Given the description of an element on the screen output the (x, y) to click on. 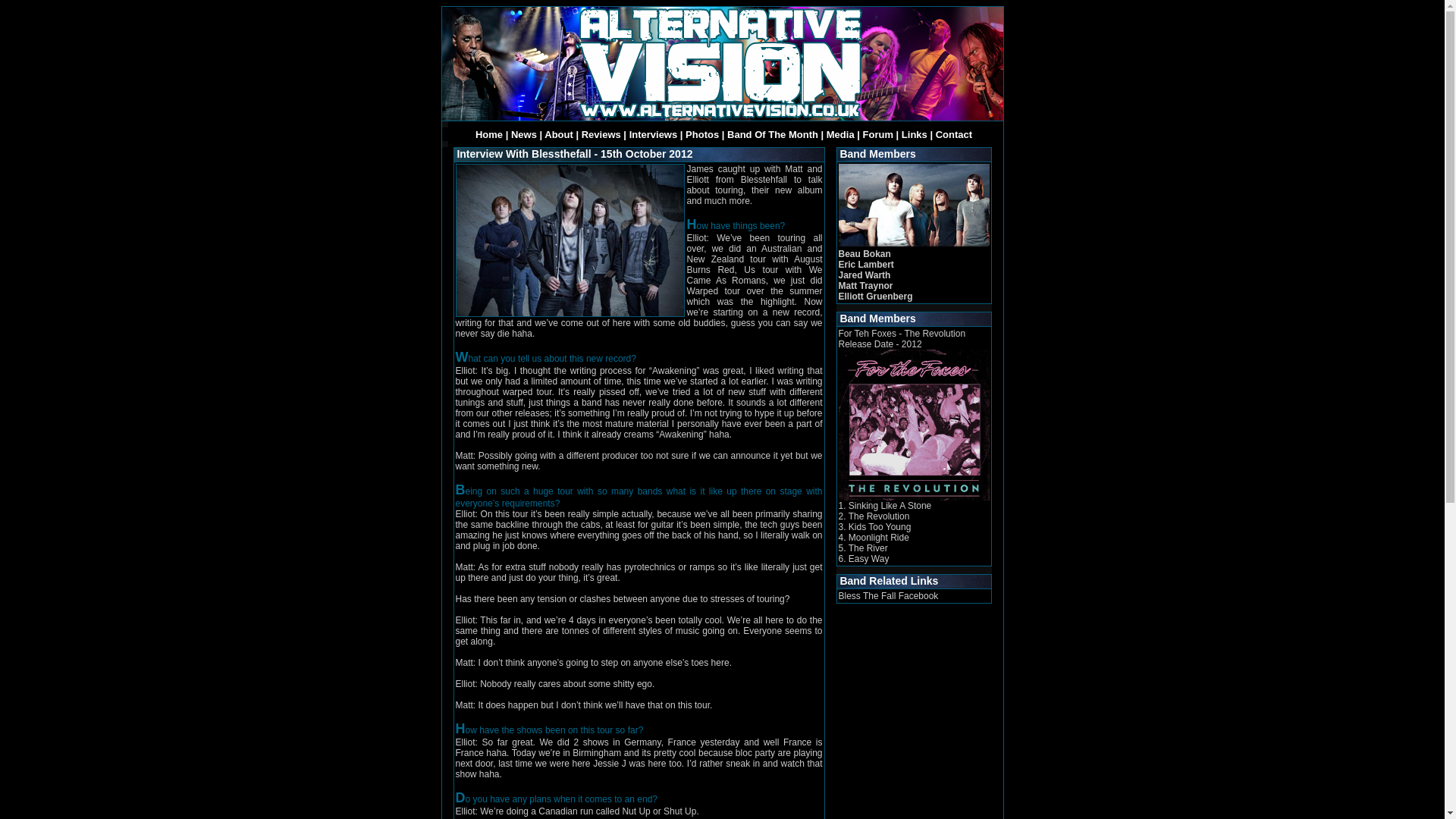
Alternative Vision Home Page (489, 134)
Interviews (653, 134)
Links (914, 134)
Bless The Fall Facebook (888, 595)
About Page (558, 134)
Links Page (914, 134)
Media Page (840, 134)
Interviews Page (653, 134)
Reviews Page (600, 134)
Home (489, 134)
